Given the description of an element on the screen output the (x, y) to click on. 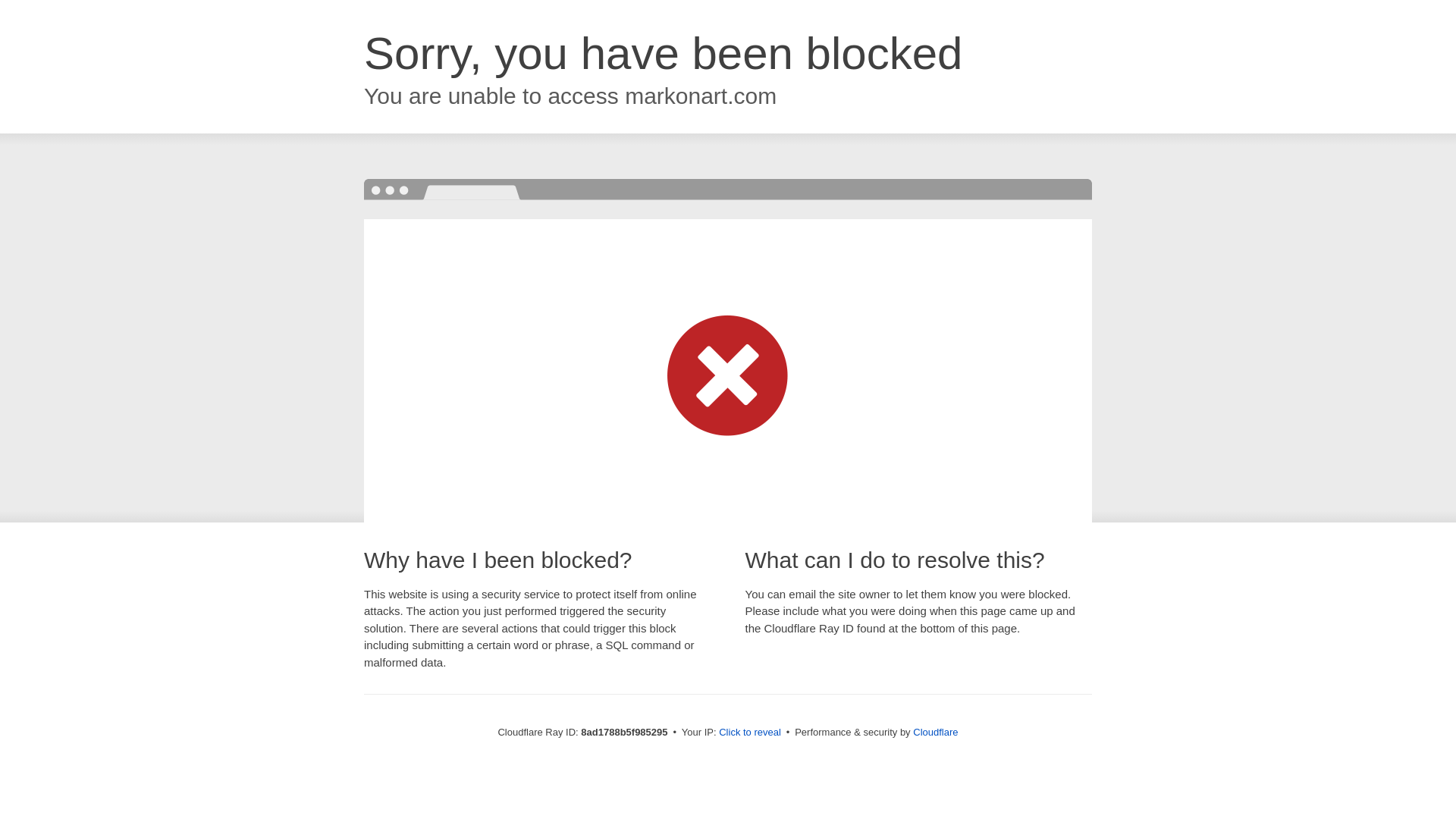
Cloudflare (935, 731)
Click to reveal (749, 732)
